Given the description of an element on the screen output the (x, y) to click on. 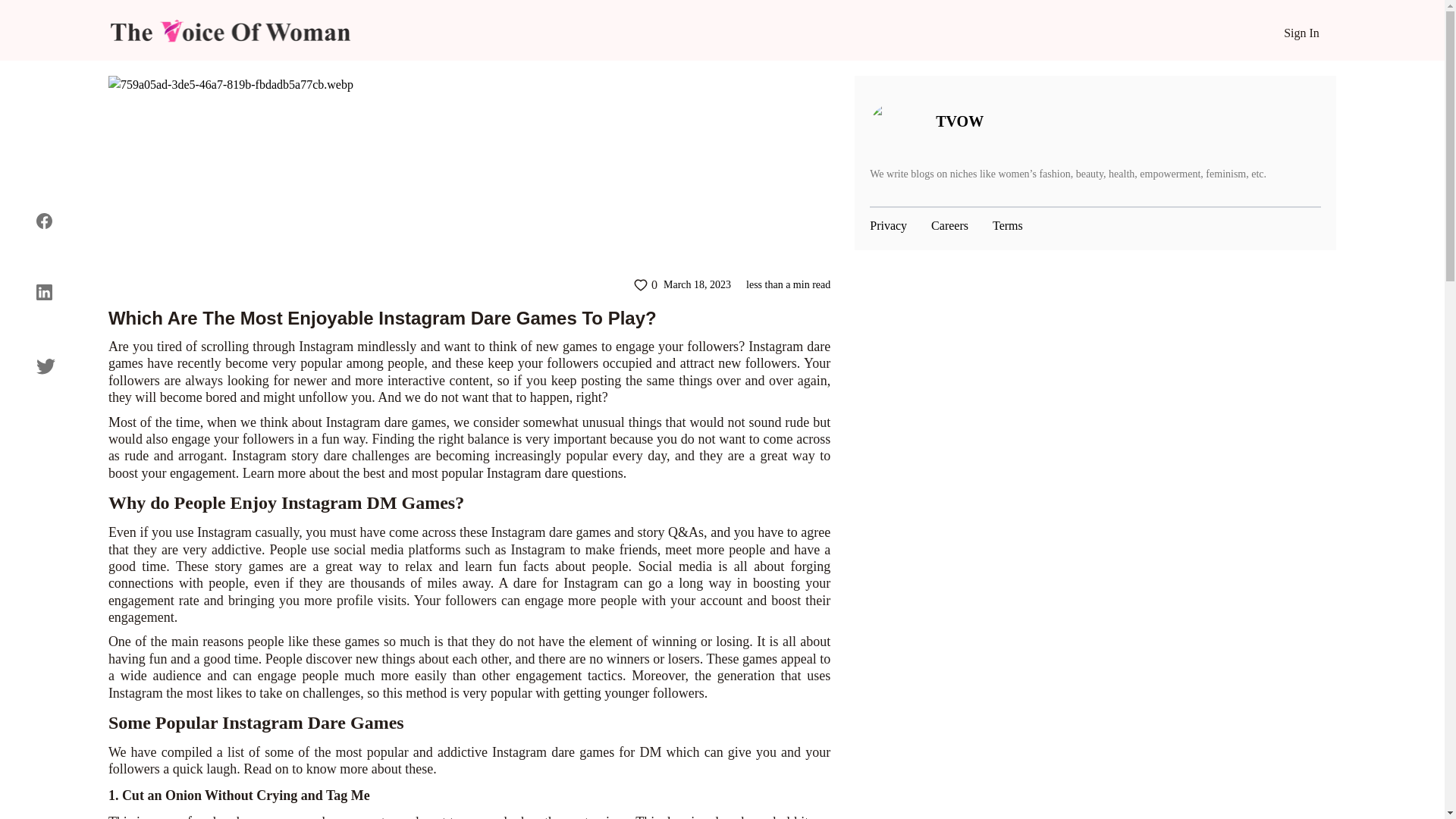
0 (645, 285)
Terms (1007, 226)
Careers (949, 226)
Privacy (888, 226)
